Given the description of an element on the screen output the (x, y) to click on. 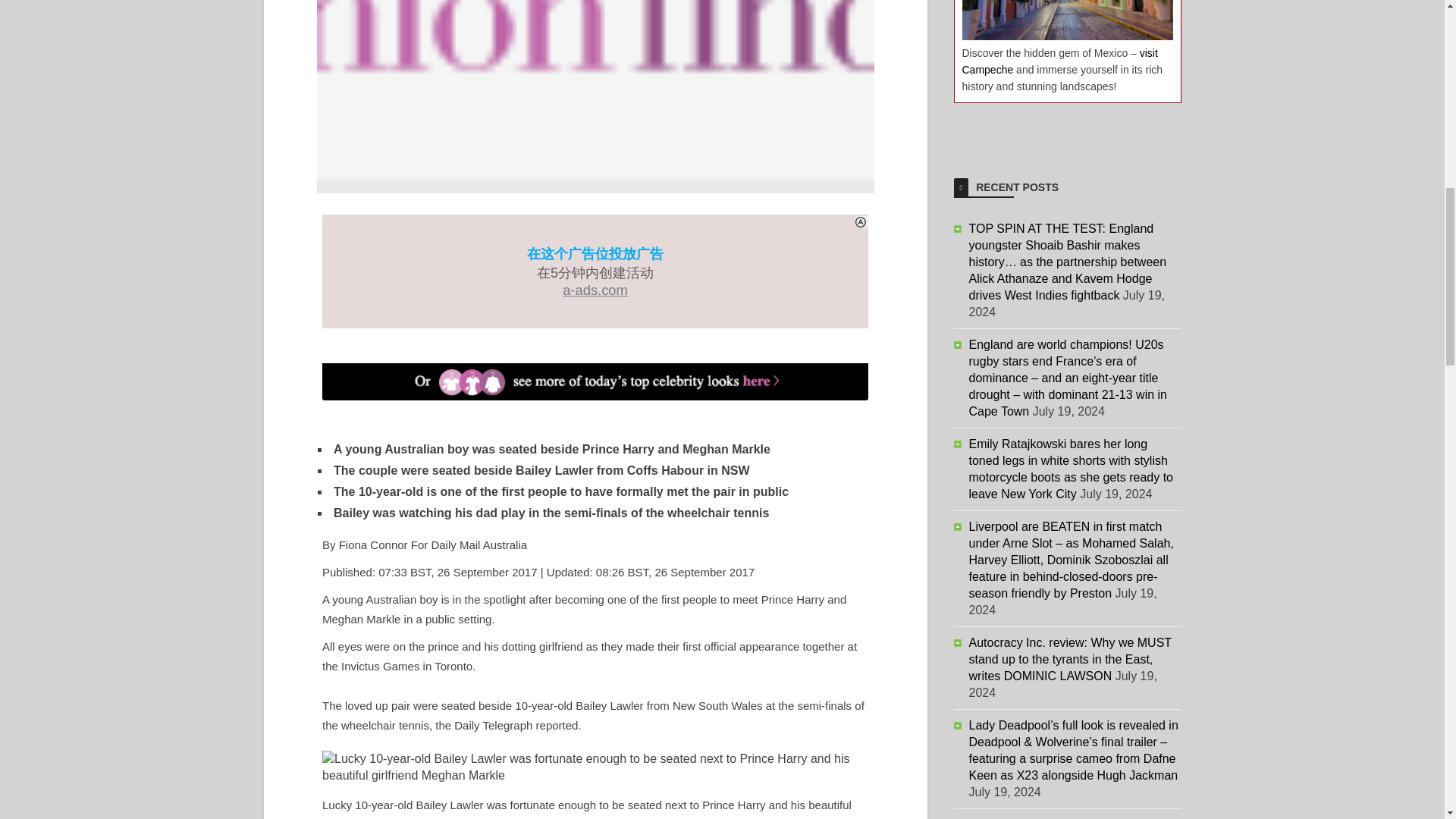
visit Campeche (1058, 61)
